Given the description of an element on the screen output the (x, y) to click on. 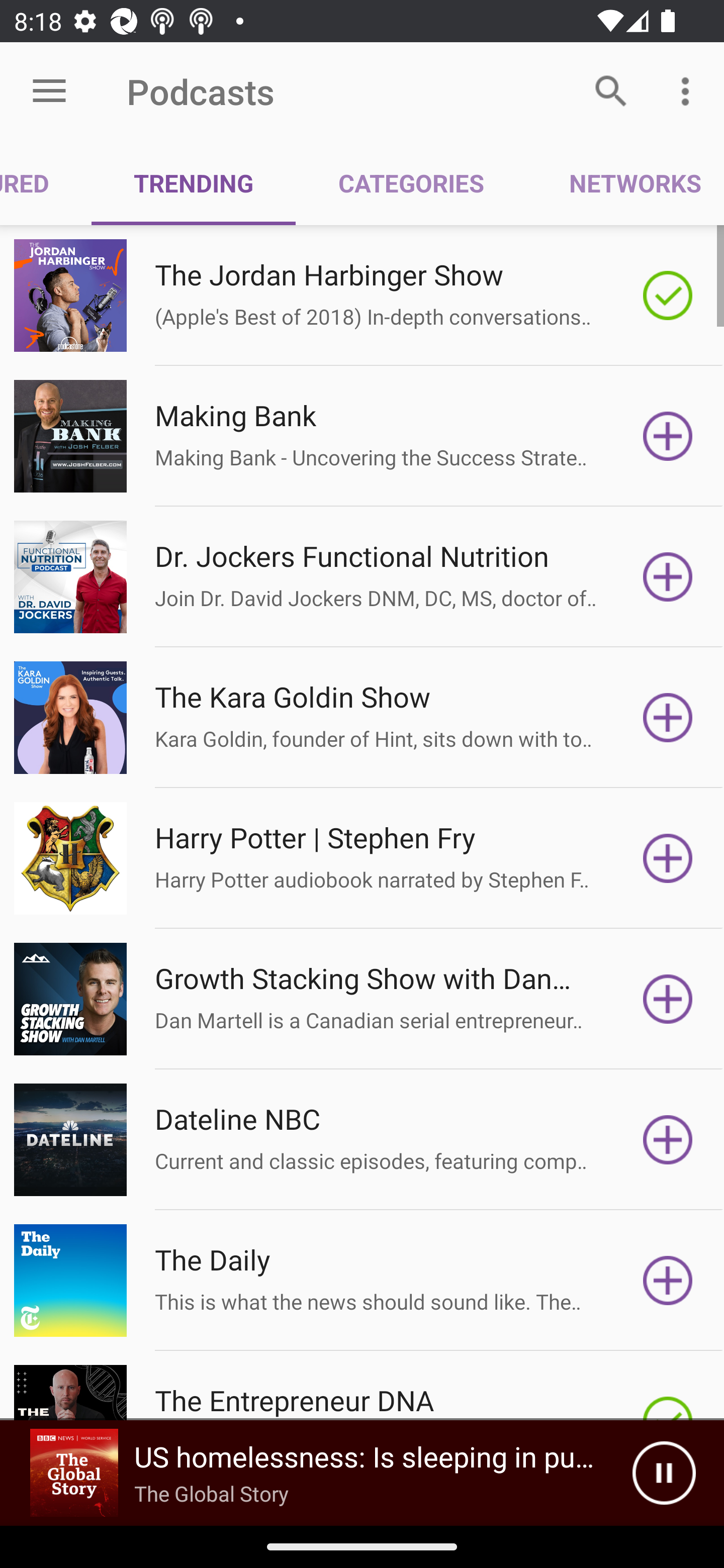
Open menu (49, 91)
Search (611, 90)
More options (688, 90)
TRENDING (193, 183)
CATEGORIES (410, 183)
NETWORKS (625, 183)
Subscribed (667, 295)
Subscribe (667, 435)
Subscribe (667, 576)
Subscribe (667, 717)
Subscribe (667, 858)
Subscribe (667, 998)
Subscribe (667, 1139)
Subscribe (667, 1280)
Pause (663, 1472)
